Given the description of an element on the screen output the (x, y) to click on. 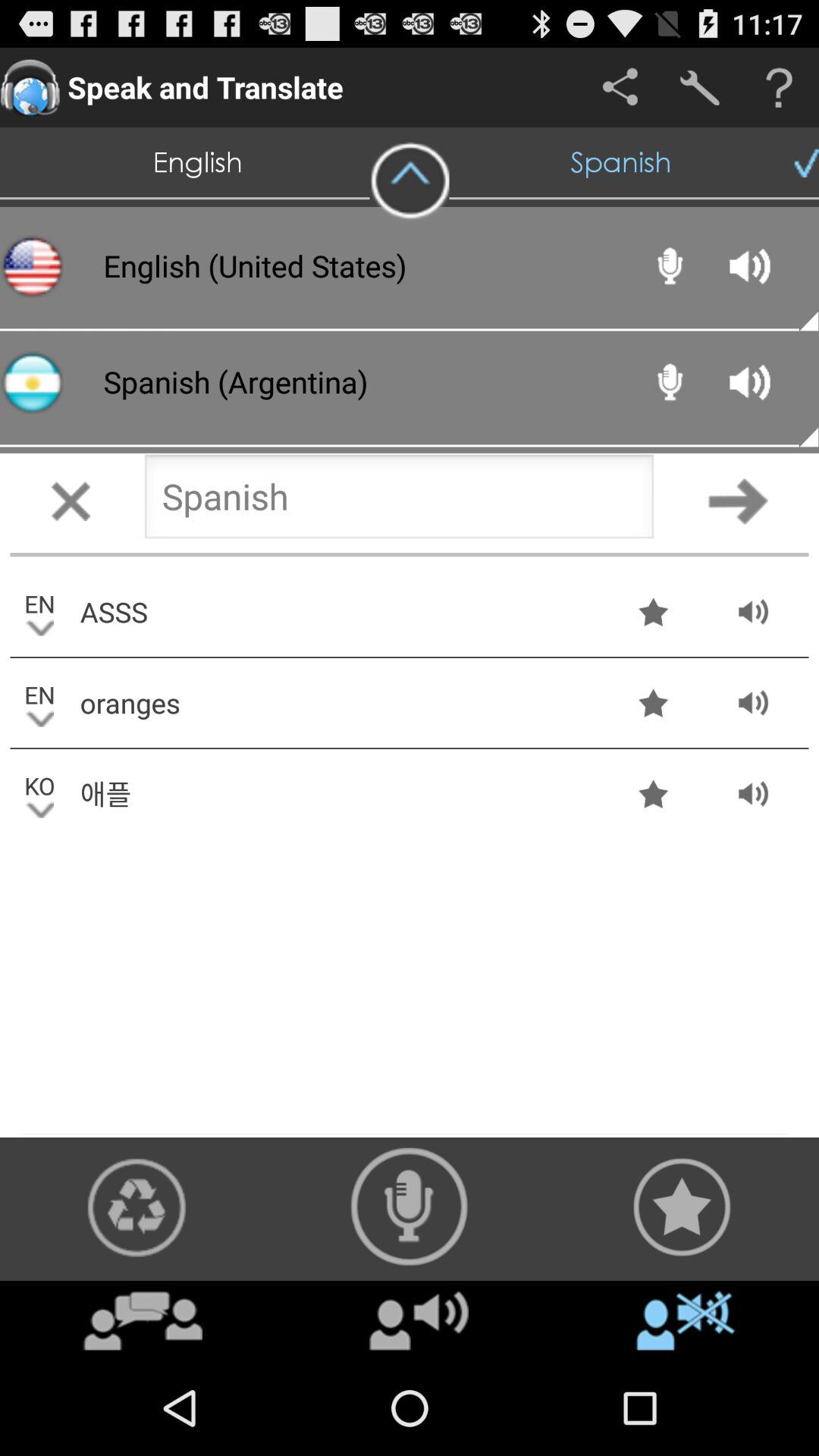
swipe to the   icon (409, 181)
